Given the description of an element on the screen output the (x, y) to click on. 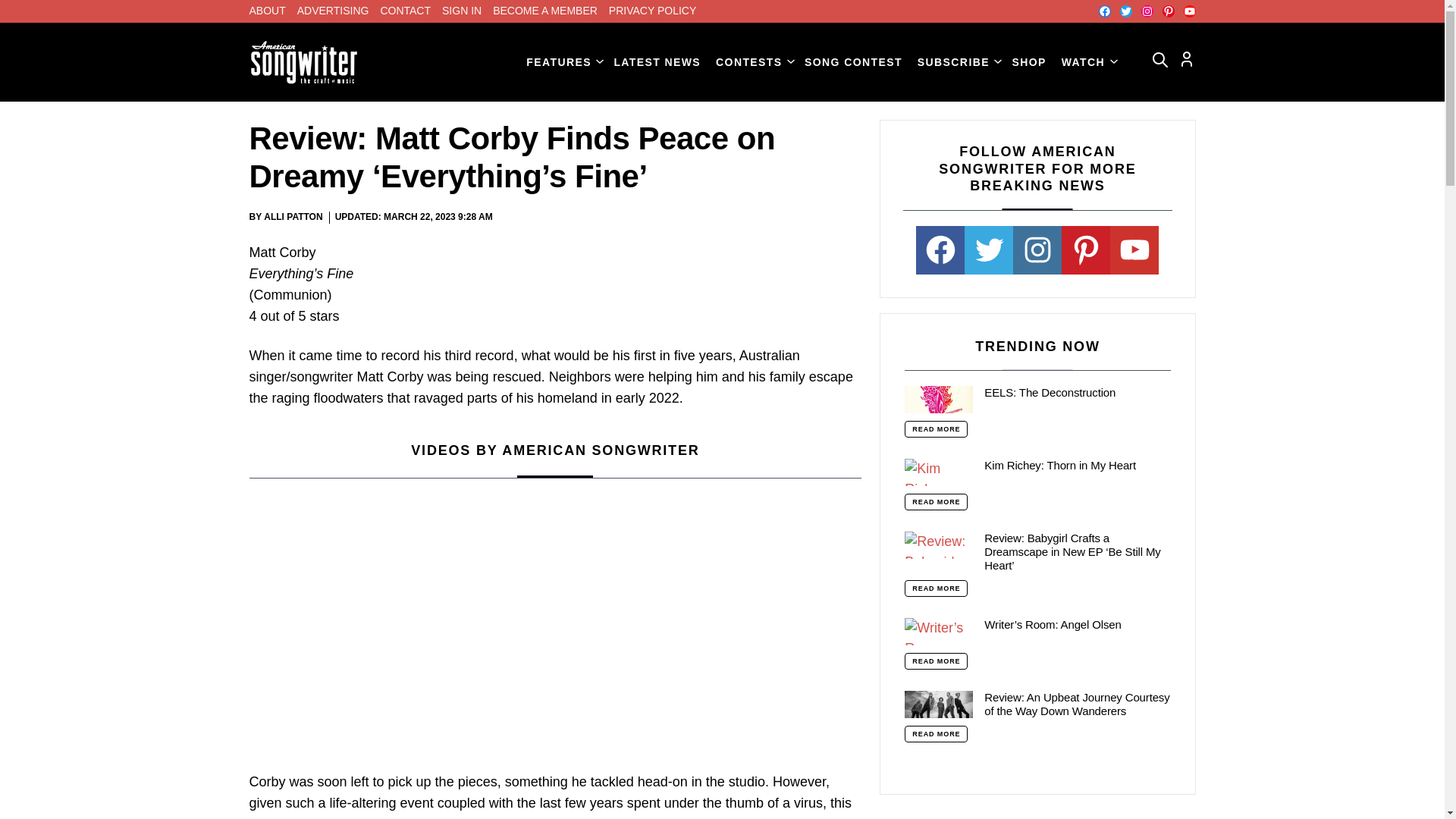
ABOUT (266, 10)
Facebook (1103, 10)
CONTACT (405, 10)
March 22, 2023 9:28 am (438, 217)
ADVERTISING (333, 10)
Posts by Alli Patton (292, 216)
YouTube (1188, 10)
Instagram (1146, 10)
Twitter (1125, 10)
SIGN IN (461, 10)
Pinterest (1167, 10)
PRIVACY POLICY (651, 10)
BECOME A MEMBER (544, 10)
